Given the description of an element on the screen output the (x, y) to click on. 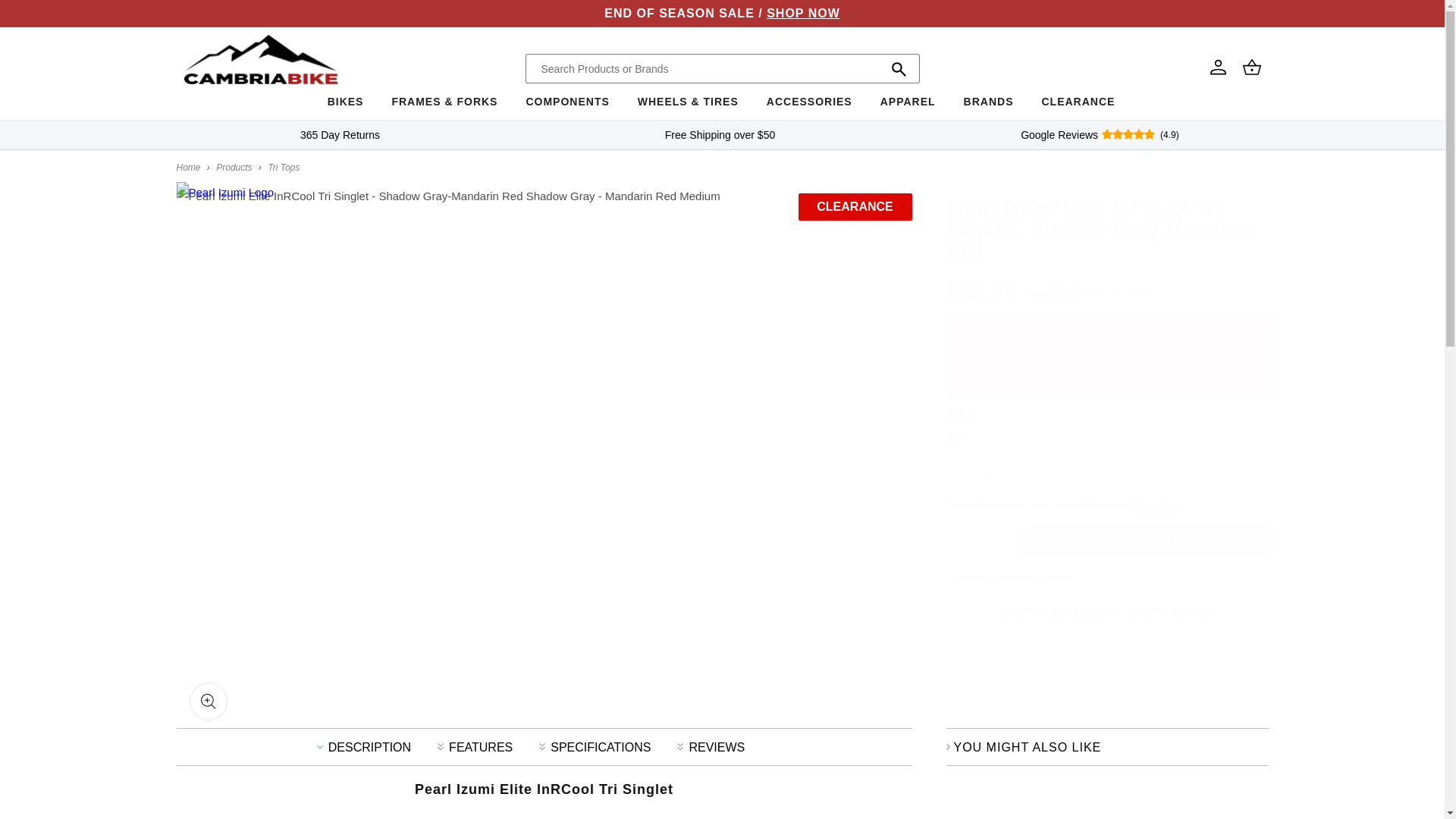
Products (233, 167)
Skip to content (45, 17)
Cambria Bike (188, 167)
Tri Tops (1169, 609)
Tri Tops (283, 167)
